Given the description of an element on the screen output the (x, y) to click on. 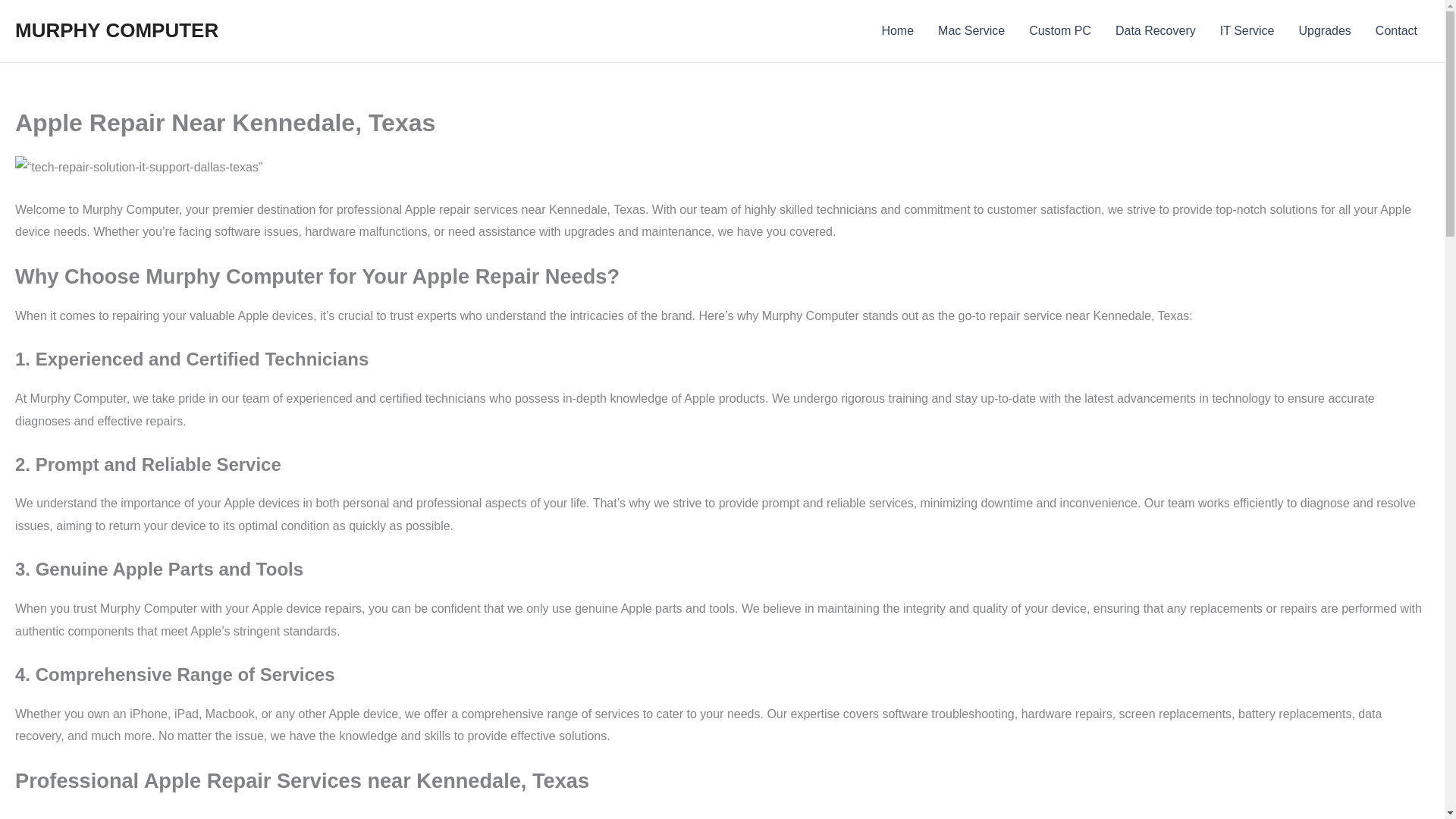
MURPHY COMPUTER (116, 29)
Data Recovery (1155, 31)
Custom PC (1059, 31)
IT Service (1247, 31)
Mac Service (971, 31)
Upgrades (1323, 31)
Home (897, 31)
Contact (1395, 31)
